Given the description of an element on the screen output the (x, y) to click on. 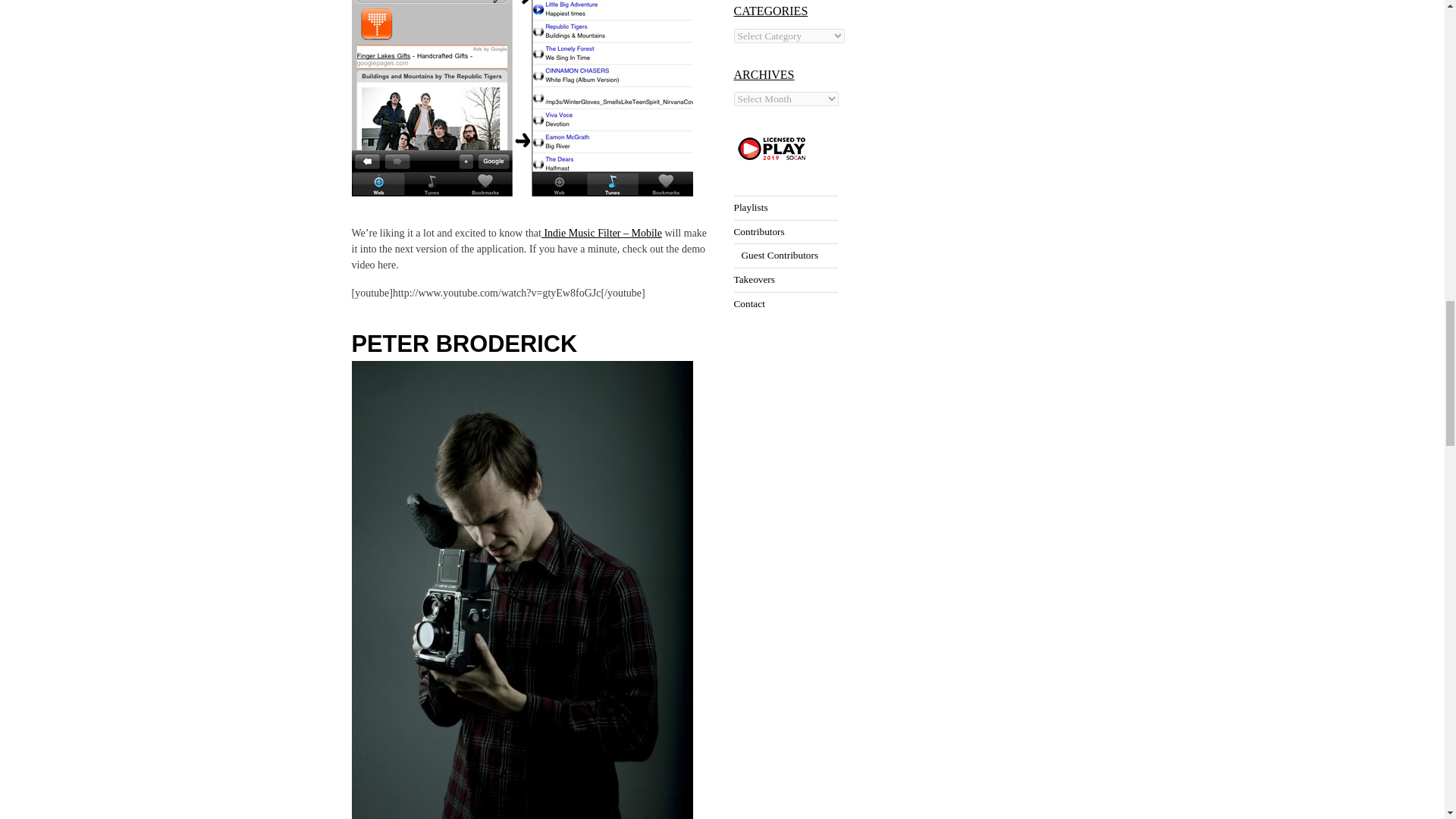
socan link (771, 148)
PETER BRODERICK (465, 343)
IMF Mobile -  I Heart New Music (522, 98)
